Given the description of an element on the screen output the (x, y) to click on. 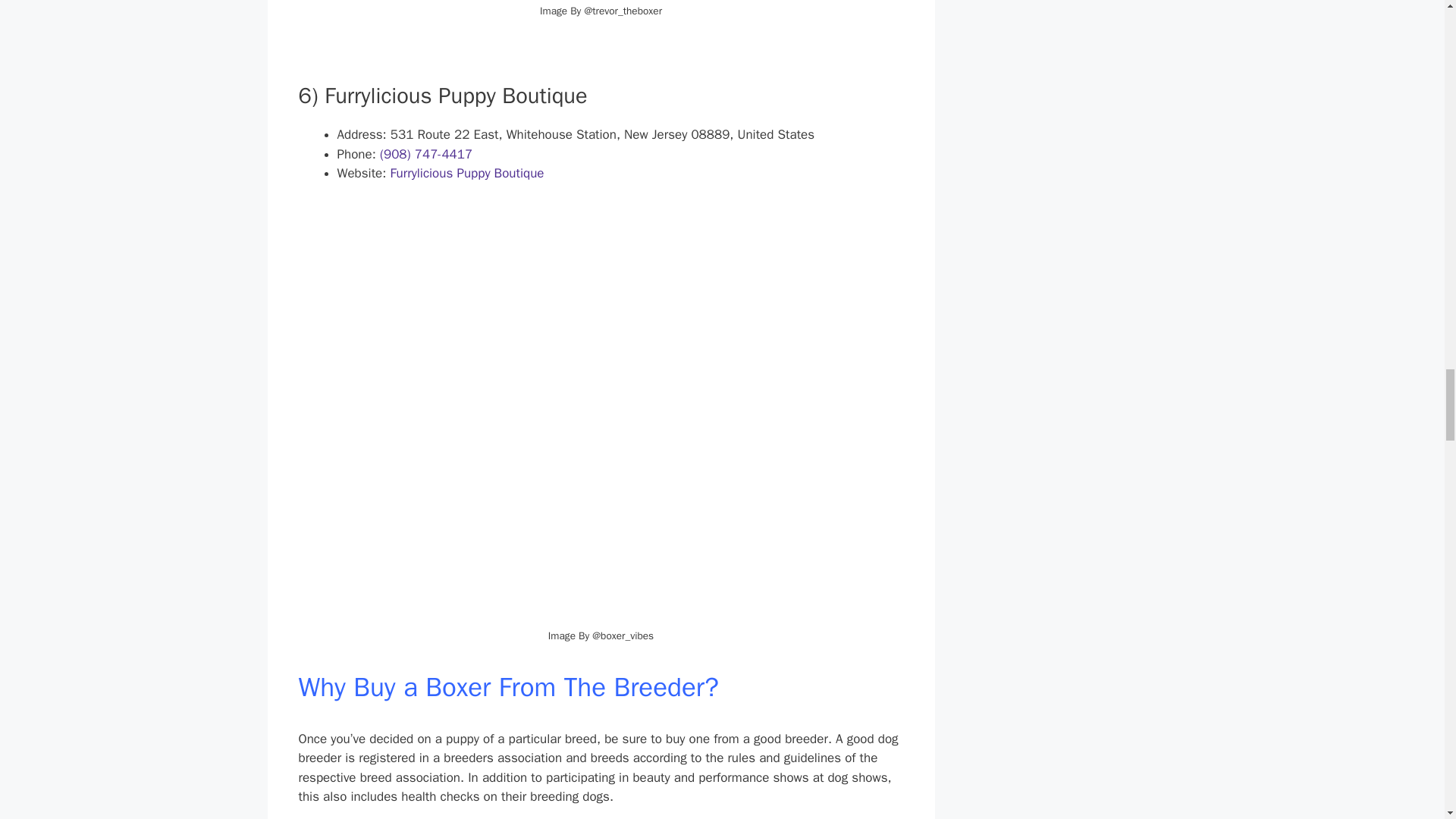
Furrylicious Puppy Boutique (466, 172)
